Given the description of an element on the screen output the (x, y) to click on. 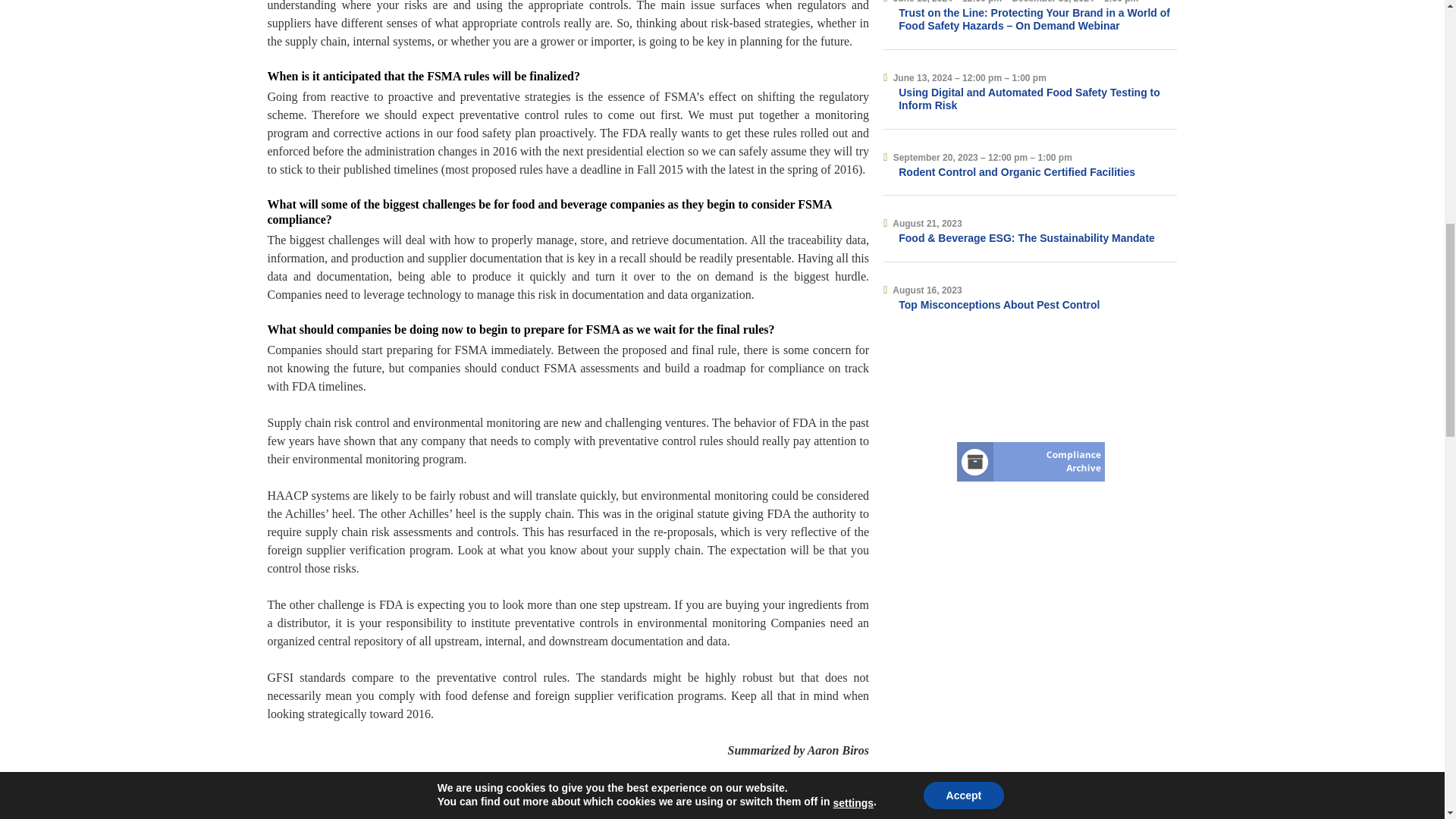
Click to share on LinkedIn (450, 810)
Click to share on Facebook (384, 810)
